Given the description of an element on the screen output the (x, y) to click on. 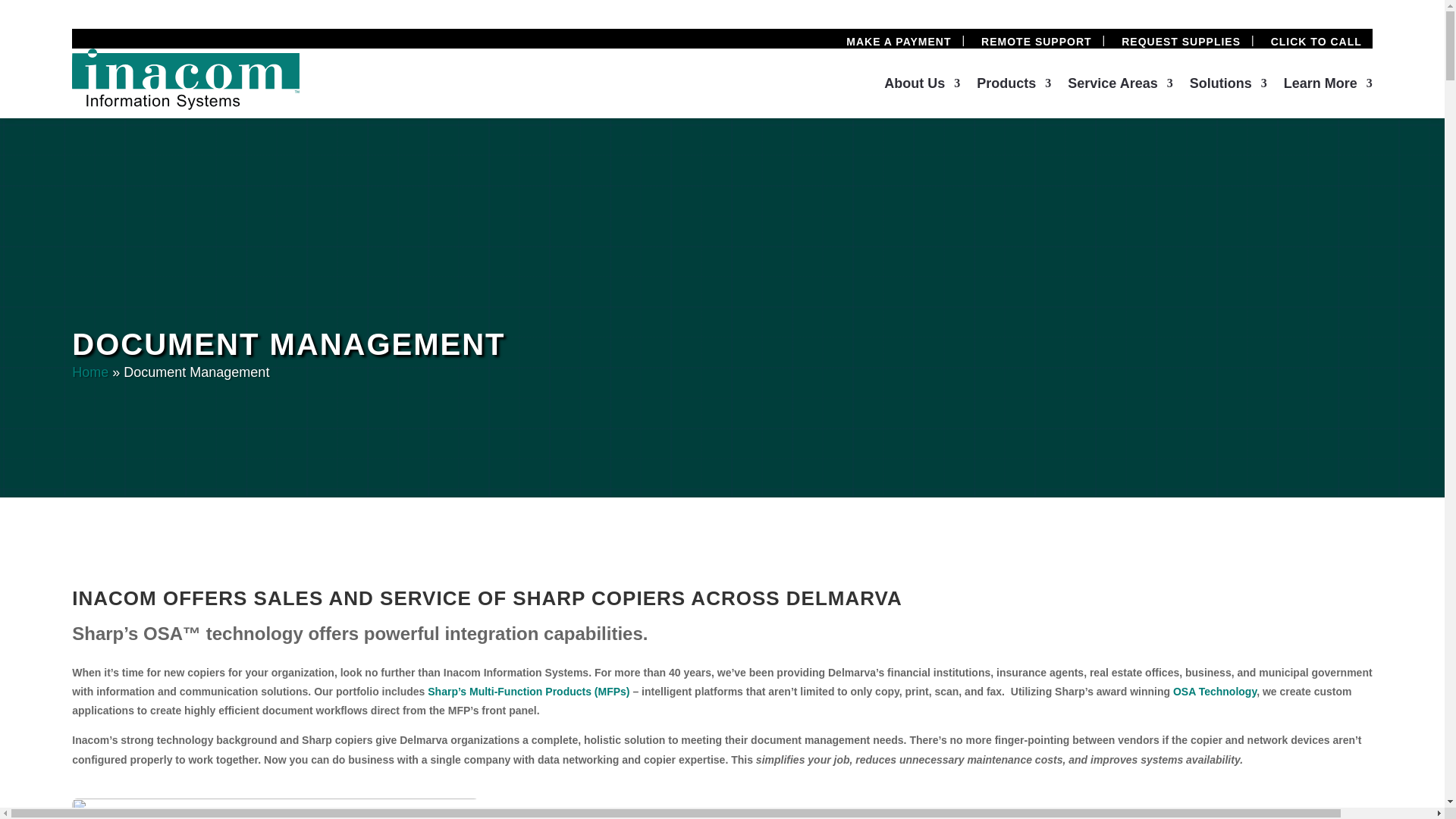
Products (1013, 86)
CLICK TO CALL (1316, 41)
Learn More (1328, 86)
REMOTE SUPPORT (1035, 41)
Service Areas (1119, 86)
Personal loan calculation (435, 808)
REQUEST SUPPLIES (1180, 41)
About Us (921, 86)
MAKE A PAYMENT (897, 41)
osa-header (722, 808)
Sharp USA Copiers, Scanners, Printers (528, 691)
Solutions (1227, 86)
